Given the description of an element on the screen output the (x, y) to click on. 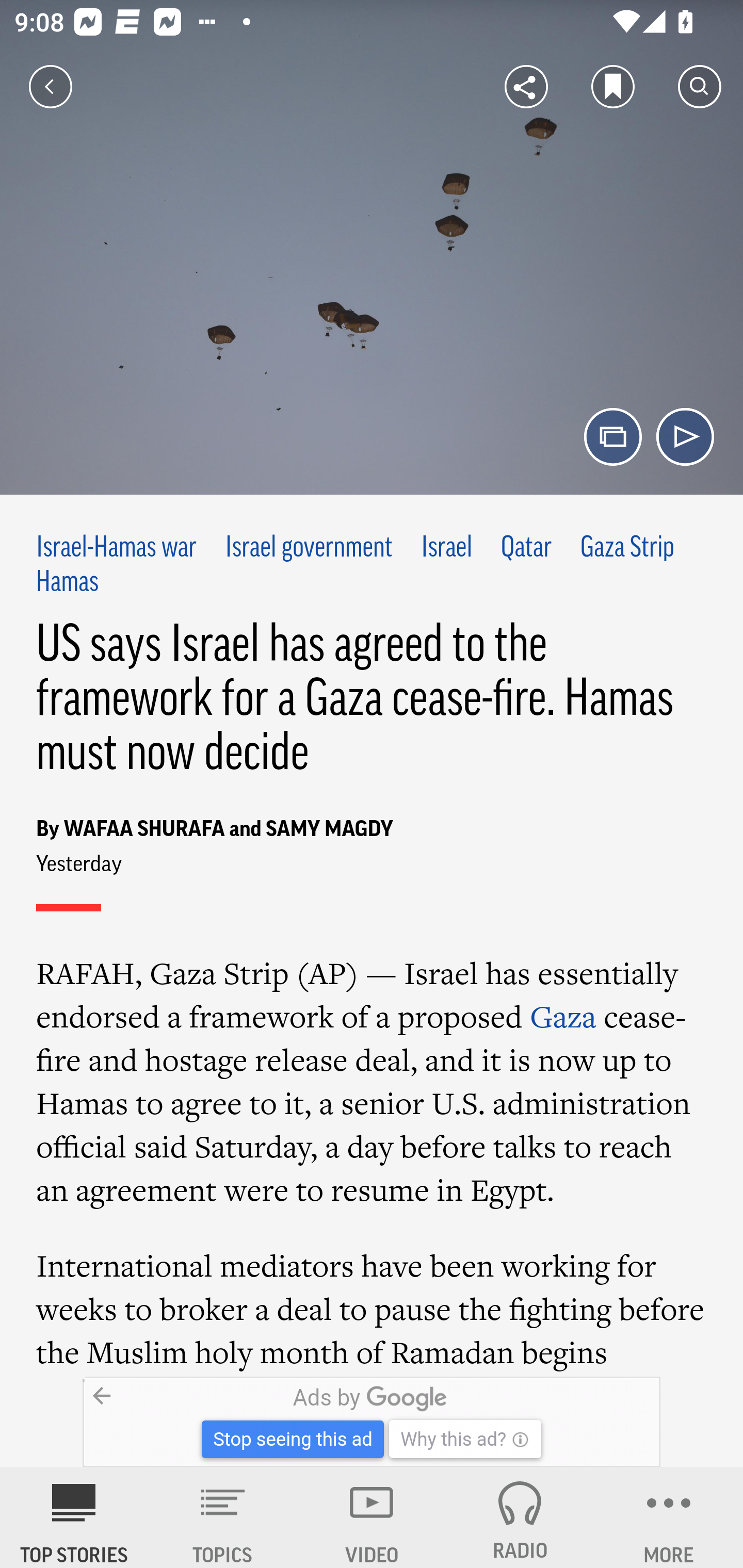
Israel-Hamas war (117, 548)
Israel government (308, 548)
Israel (446, 548)
Qatar (526, 548)
Gaza Strip (627, 548)
Hamas (67, 582)
Gaza (563, 1016)
AP News TOP STORIES (74, 1517)
TOPICS (222, 1517)
VIDEO (371, 1517)
RADIO (519, 1517)
MORE (668, 1517)
